Given the description of an element on the screen output the (x, y) to click on. 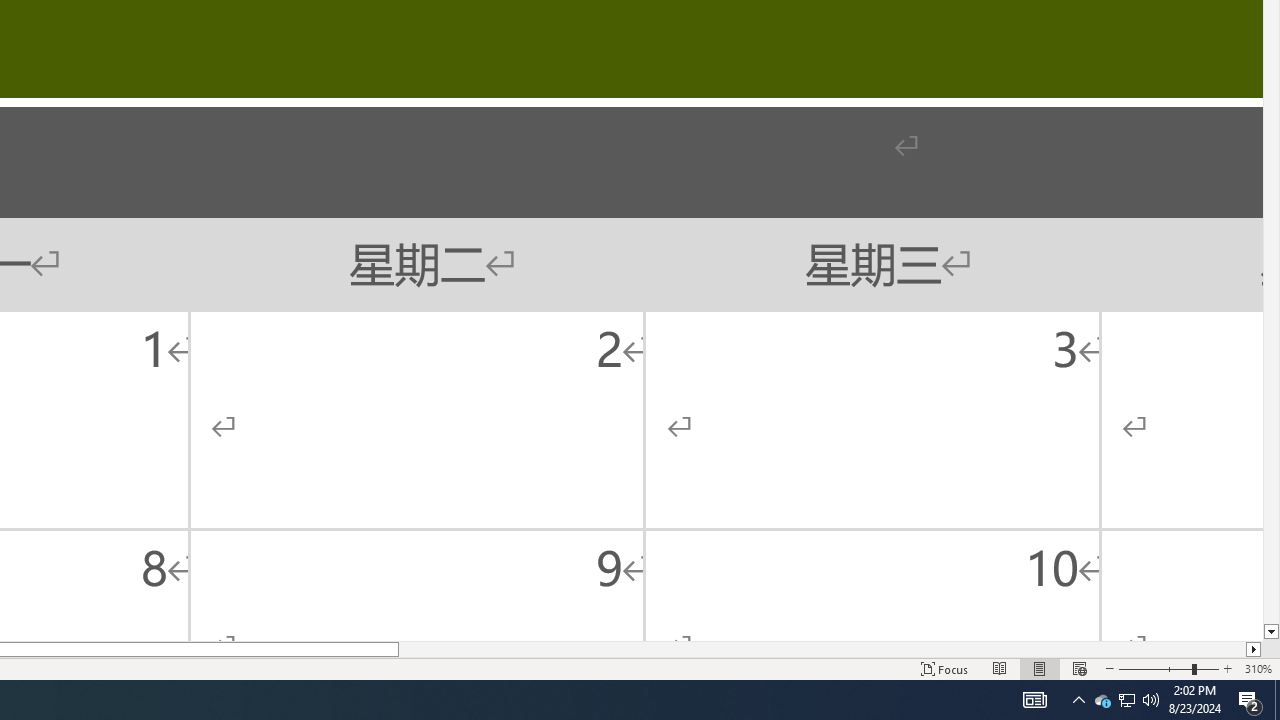
Zoom In (1227, 668)
Read Mode (1000, 668)
Column right (1254, 649)
Zoom (1168, 668)
Print Layout (1039, 668)
Line down (1271, 632)
Page right (822, 649)
Web Layout (1079, 668)
Focus  (944, 668)
Zoom Out (1154, 668)
